Given the description of an element on the screen output the (x, y) to click on. 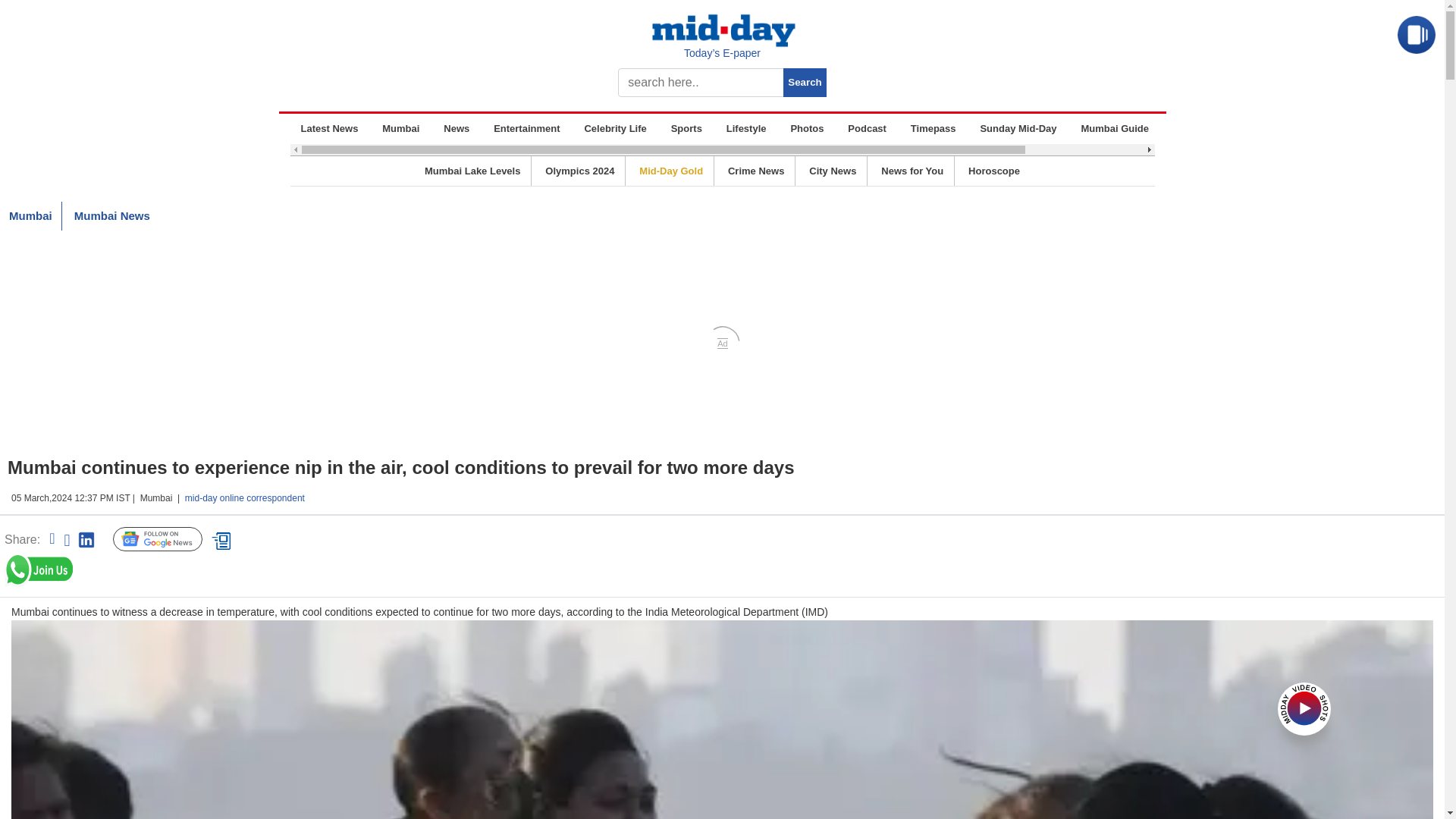
Latest News (328, 128)
Crime News (756, 170)
Sunday Mid-Day (1018, 128)
Lifestyle (746, 128)
Olympics 2024 (579, 170)
Celebrity Life (614, 128)
Podcast (866, 128)
Whatsapp Channel (118, 569)
Mumbai (400, 128)
City News (832, 170)
Search (804, 82)
Mumbai Guide (1114, 128)
News (456, 128)
Sports (686, 128)
Entertainment (526, 128)
